Given the description of an element on the screen output the (x, y) to click on. 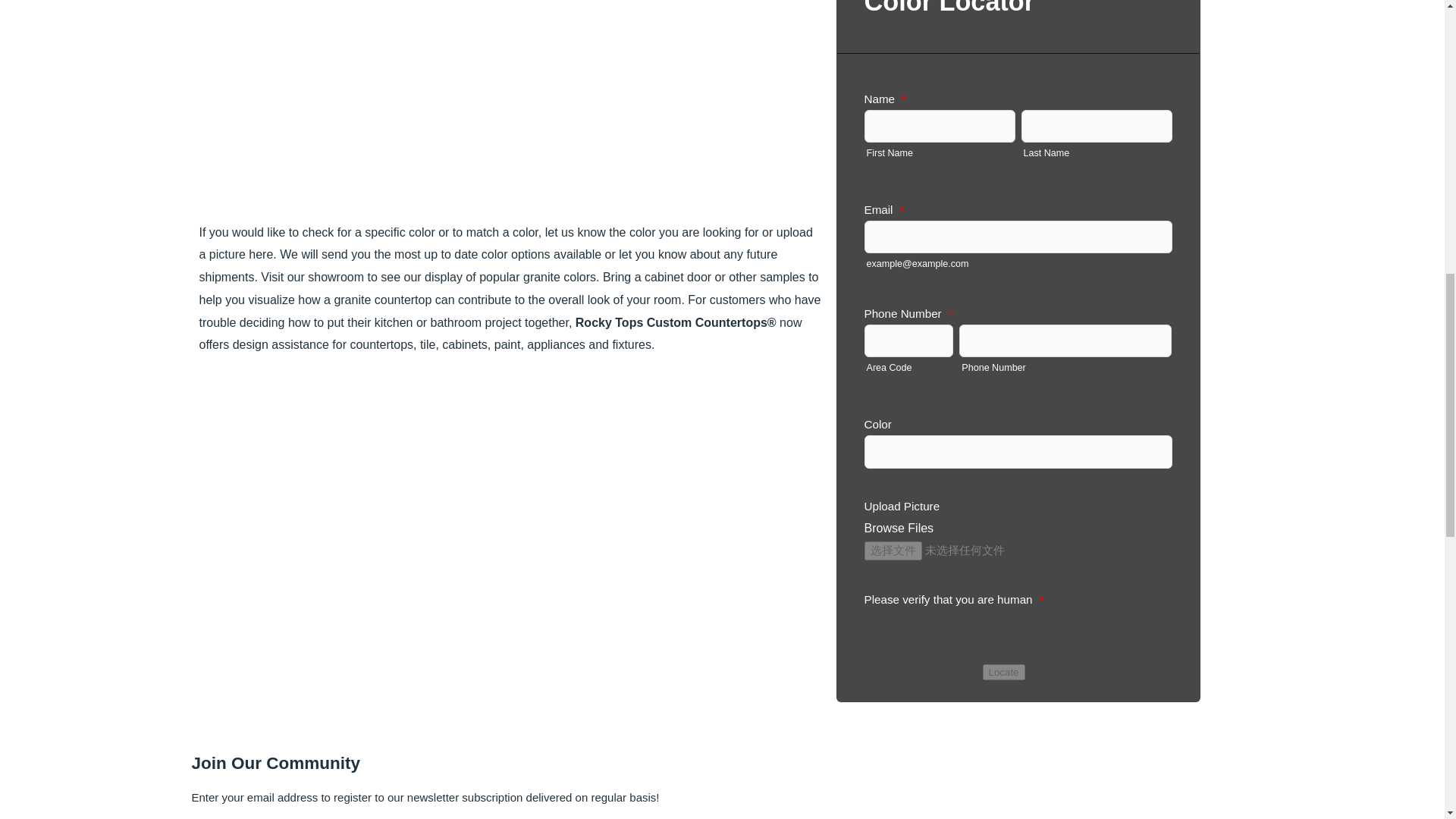
Locate (1003, 672)
